Given the description of an element on the screen output the (x, y) to click on. 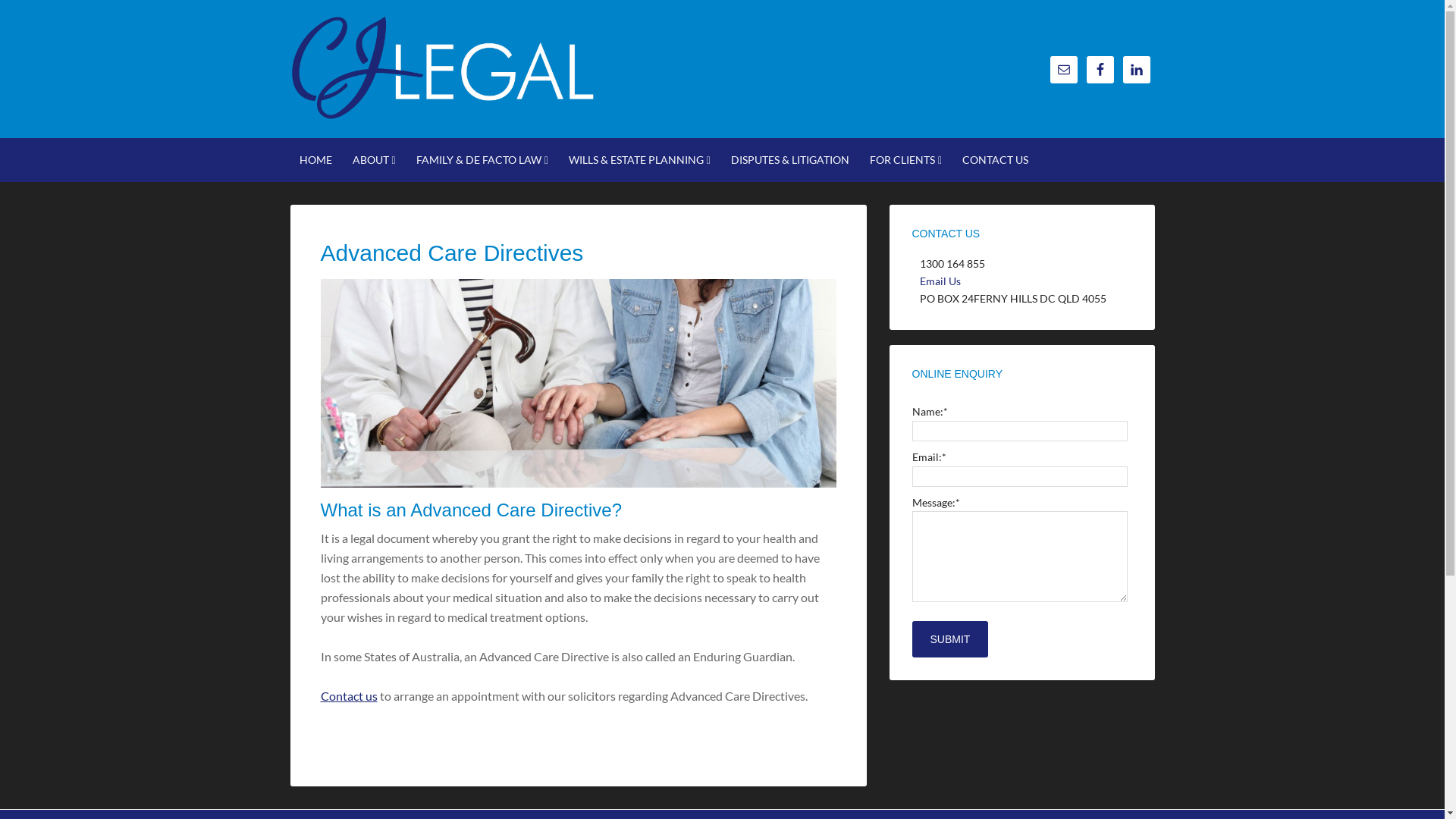
Submit Element type: text (949, 639)
WILLS & ESTATE PLANNING Element type: text (639, 160)
ABOUT Element type: text (373, 160)
DISPUTES & LITIGATION Element type: text (789, 159)
C J Legal Element type: hover (441, 106)
HOME Element type: text (314, 159)
FAMILY & DE FACTO LAW Element type: text (482, 160)
Contact us Element type: text (348, 695)
Email Us Element type: text (939, 280)
CONTACT US Element type: text (995, 159)
FOR CLIENTS Element type: text (905, 160)
